Given the description of an element on the screen output the (x, y) to click on. 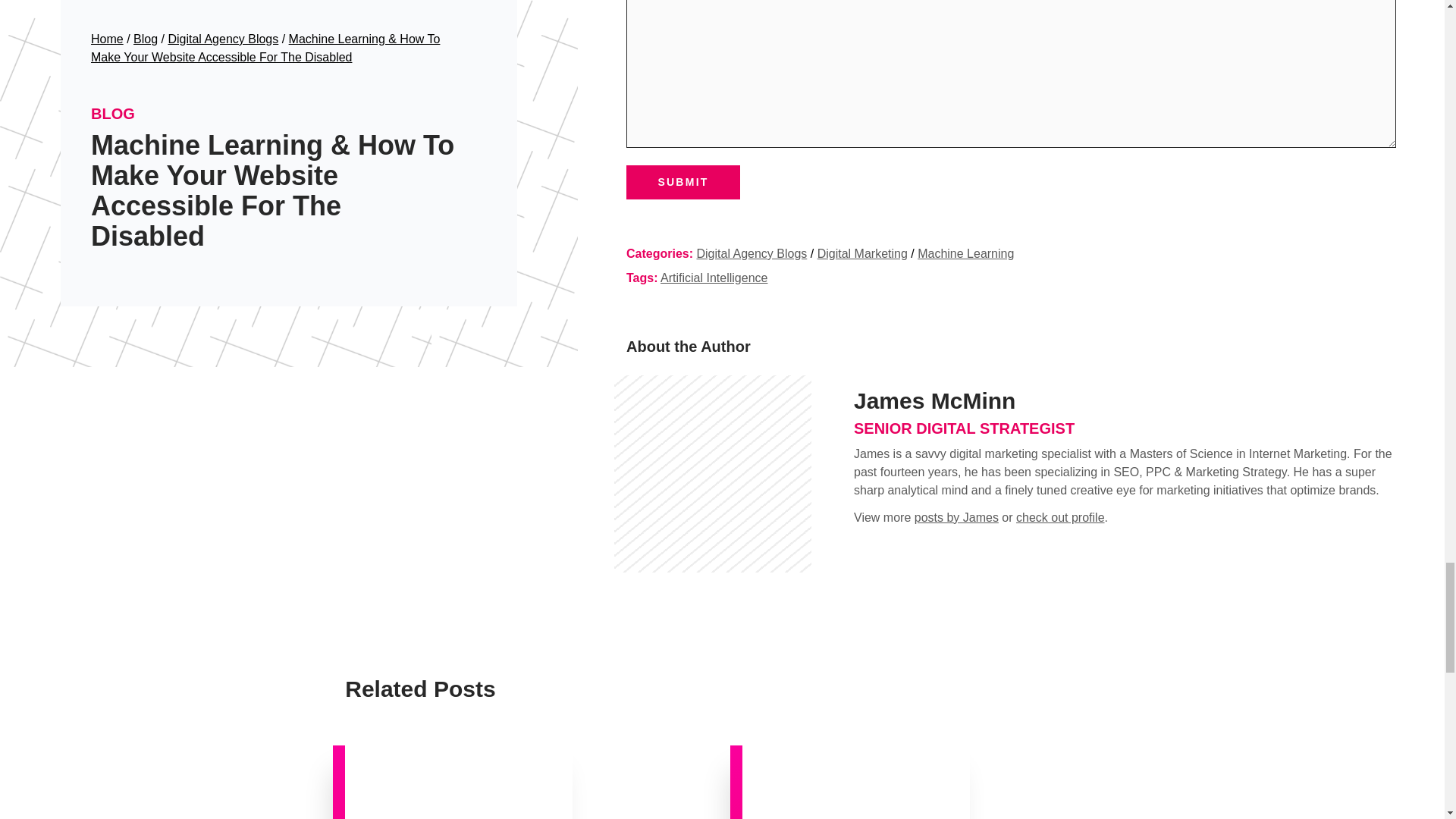
Submit (682, 182)
